Given the description of an element on the screen output the (x, y) to click on. 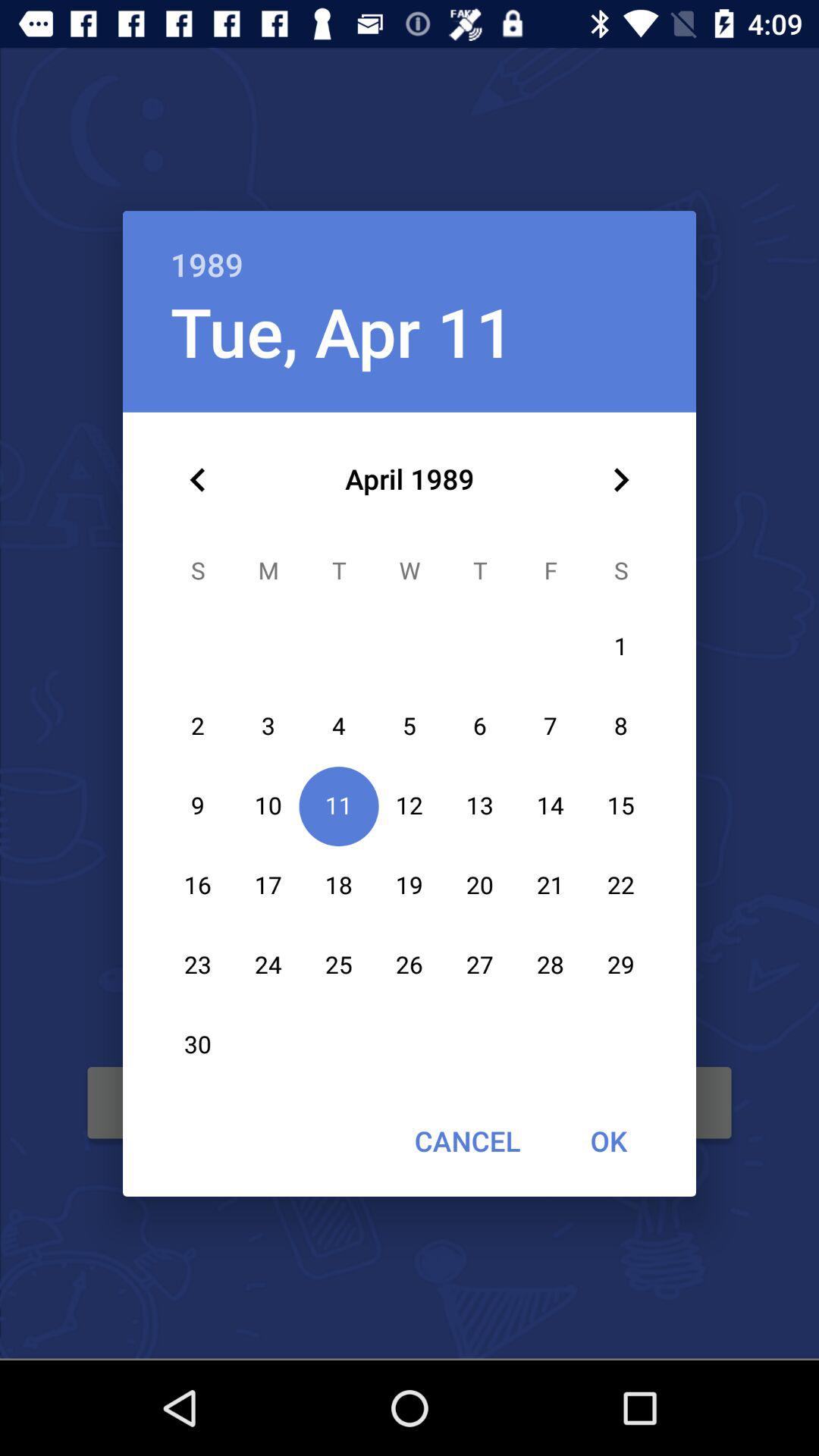
swipe to the ok item (608, 1140)
